Given the description of an element on the screen output the (x, y) to click on. 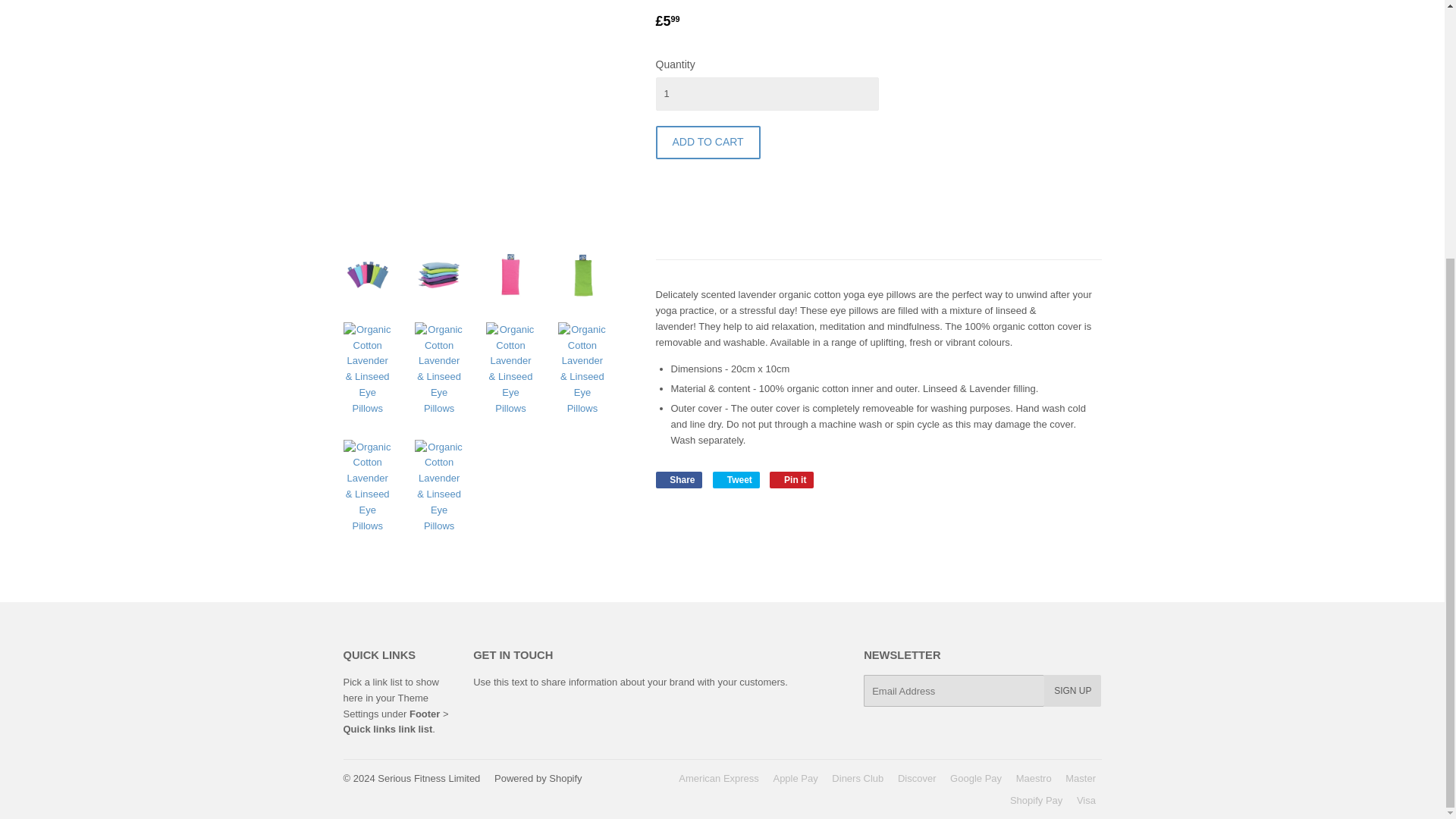
Pin on Pinterest (678, 479)
Theme Settings (791, 479)
ADD TO CART (385, 705)
Share on Facebook (707, 142)
1 (791, 479)
SIGN UP (678, 479)
Serious Fitness Limited (766, 93)
Tweet on Twitter (1071, 690)
